Given the description of an element on the screen output the (x, y) to click on. 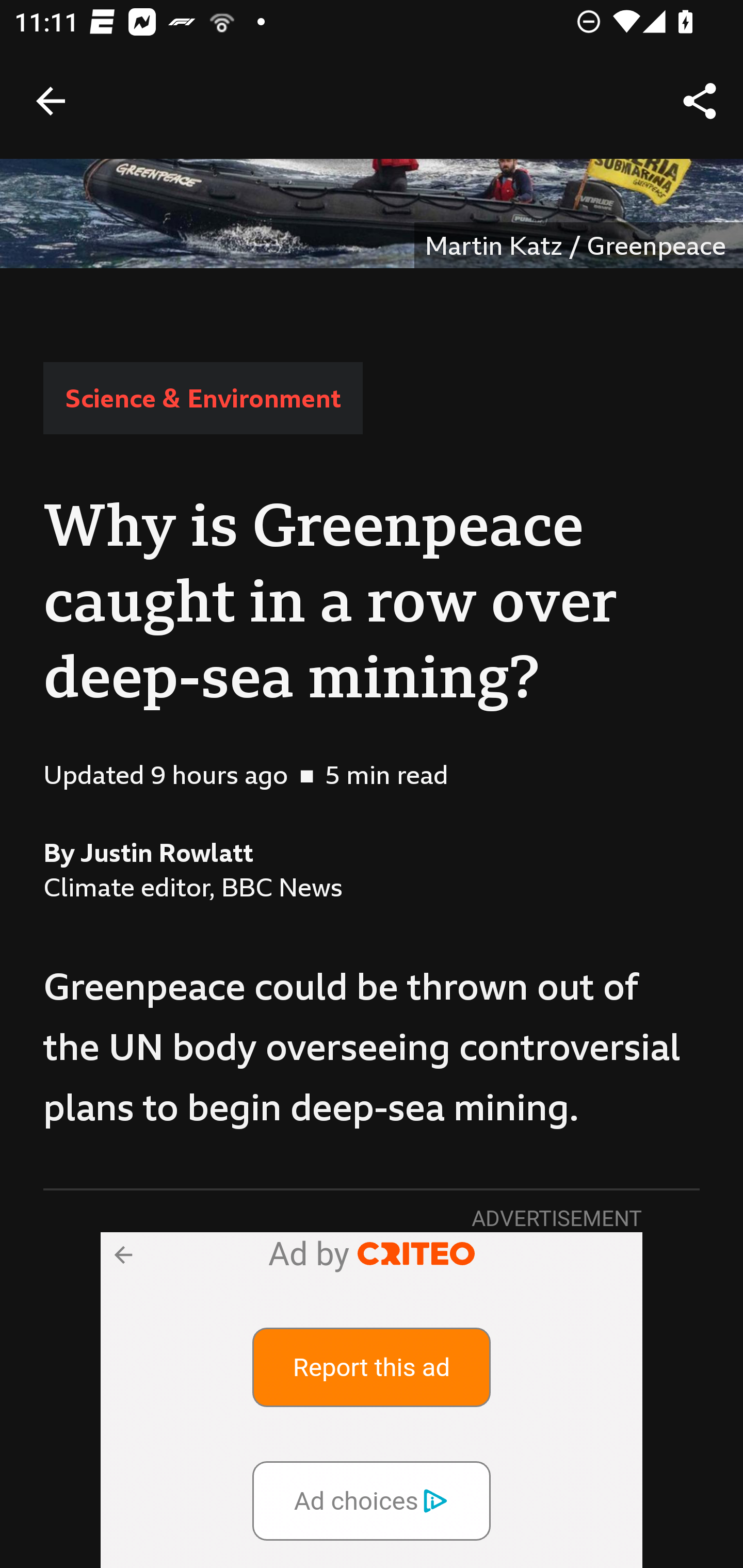
Back (50, 101)
Share (699, 101)
Science & Environment (202, 398)
back_button2 (121, 1253)
Report this ad (371, 1366)
Ad choices Ad choices privacy (371, 1500)
